Given the description of an element on the screen output the (x, y) to click on. 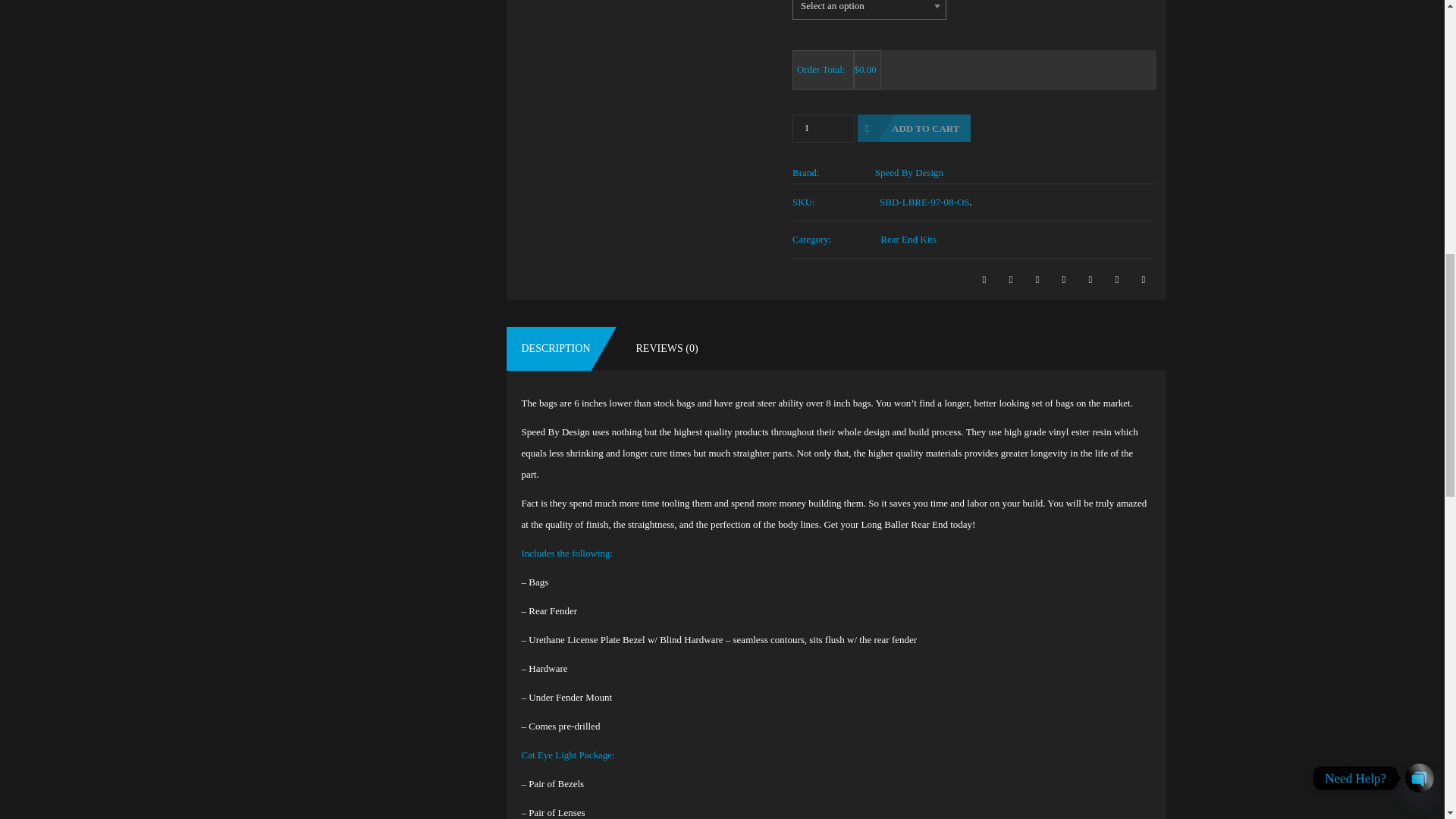
1 (823, 128)
Select an option (868, 9)
Share on Facebook (984, 279)
Qty (823, 128)
